Given the description of an element on the screen output the (x, y) to click on. 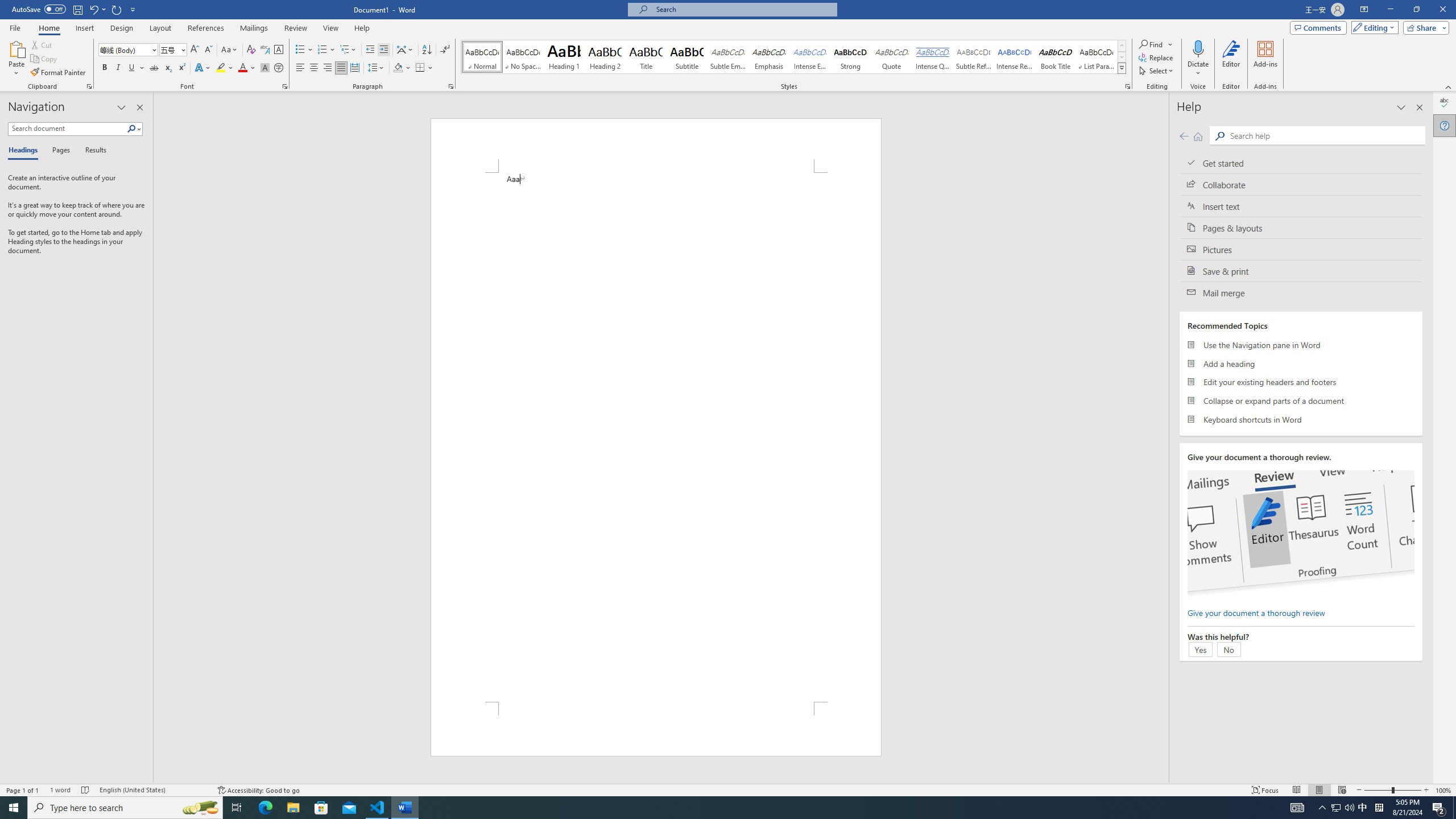
Use the Navigation pane in Word (1300, 344)
Book Title (1055, 56)
Keyboard shortcuts in Word (1300, 419)
